Given the description of an element on the screen output the (x, y) to click on. 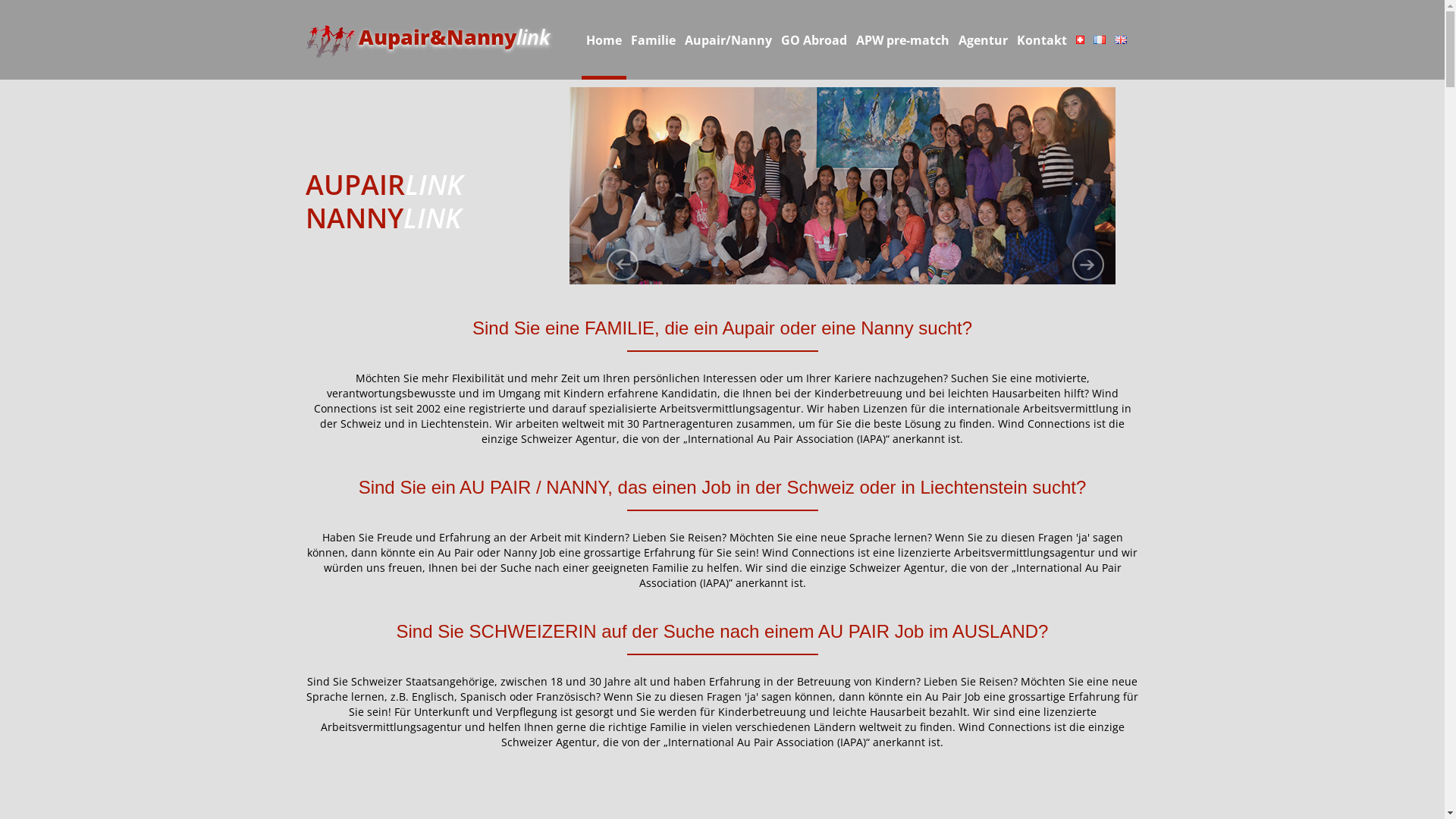
Agentur Element type: text (982, 37)
Aupair/Nanny Element type: text (727, 37)
previous Element type: text (622, 264)
GO Abroad Element type: text (813, 37)
APW pre-match Element type: text (901, 37)
Home Element type: text (602, 37)
next Element type: text (1088, 264)
Familie Element type: text (653, 37)
Kontakt Element type: text (1040, 37)
